Given the description of an element on the screen output the (x, y) to click on. 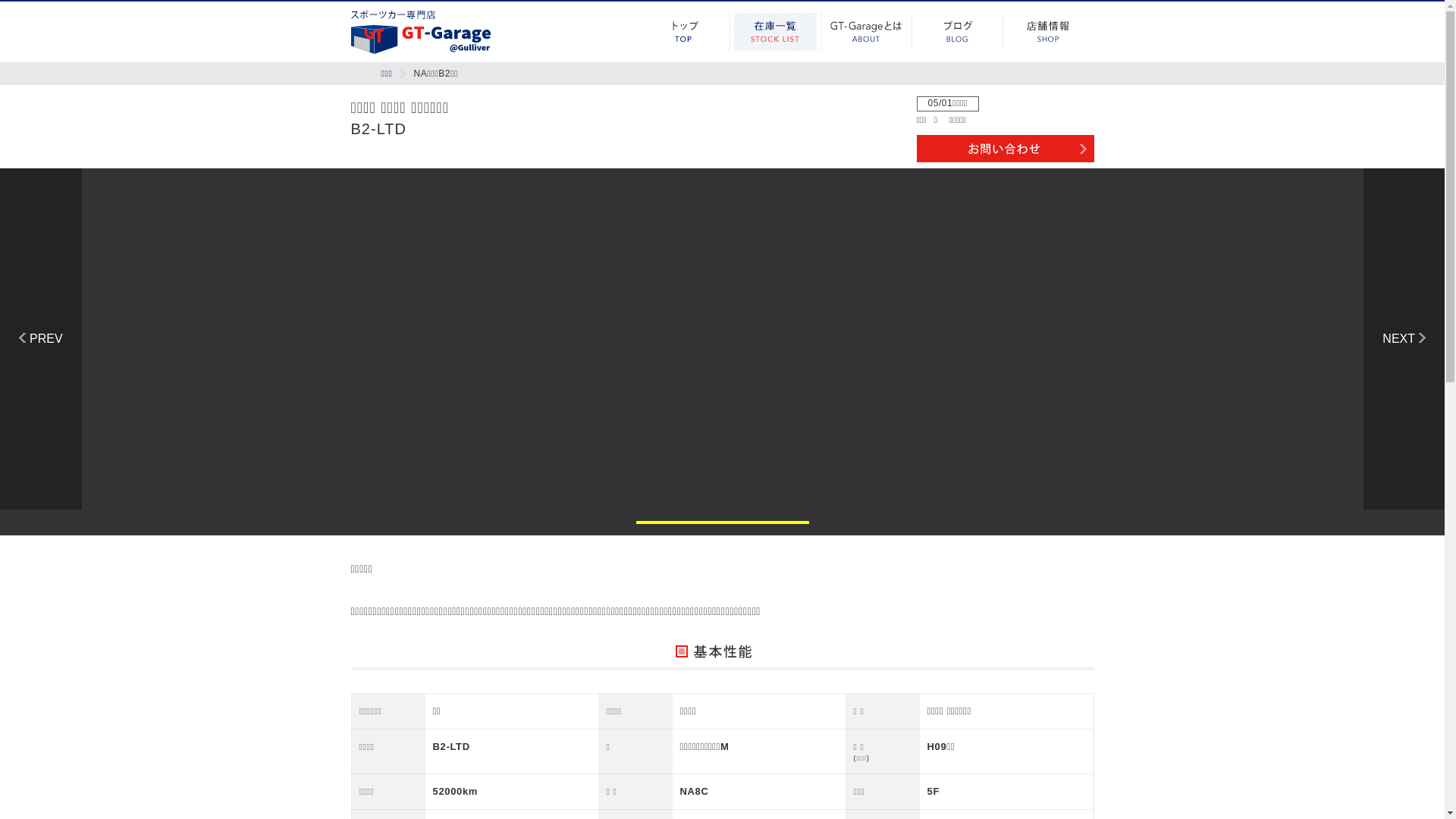
Next Element type: text (1403, 338)
Previous Element type: text (40, 338)
